Given the description of an element on the screen output the (x, y) to click on. 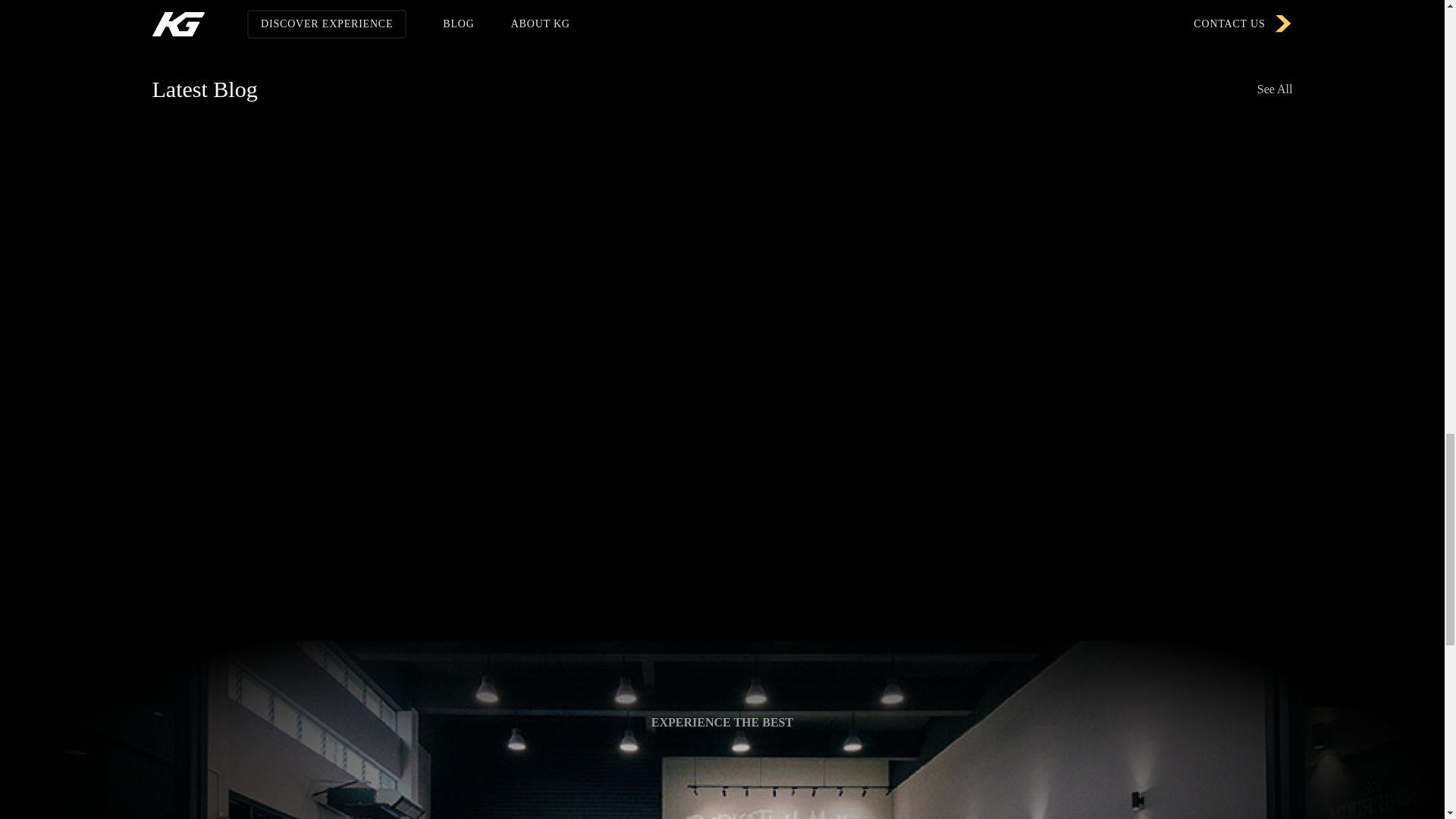
See All (1274, 89)
